Given the description of an element on the screen output the (x, y) to click on. 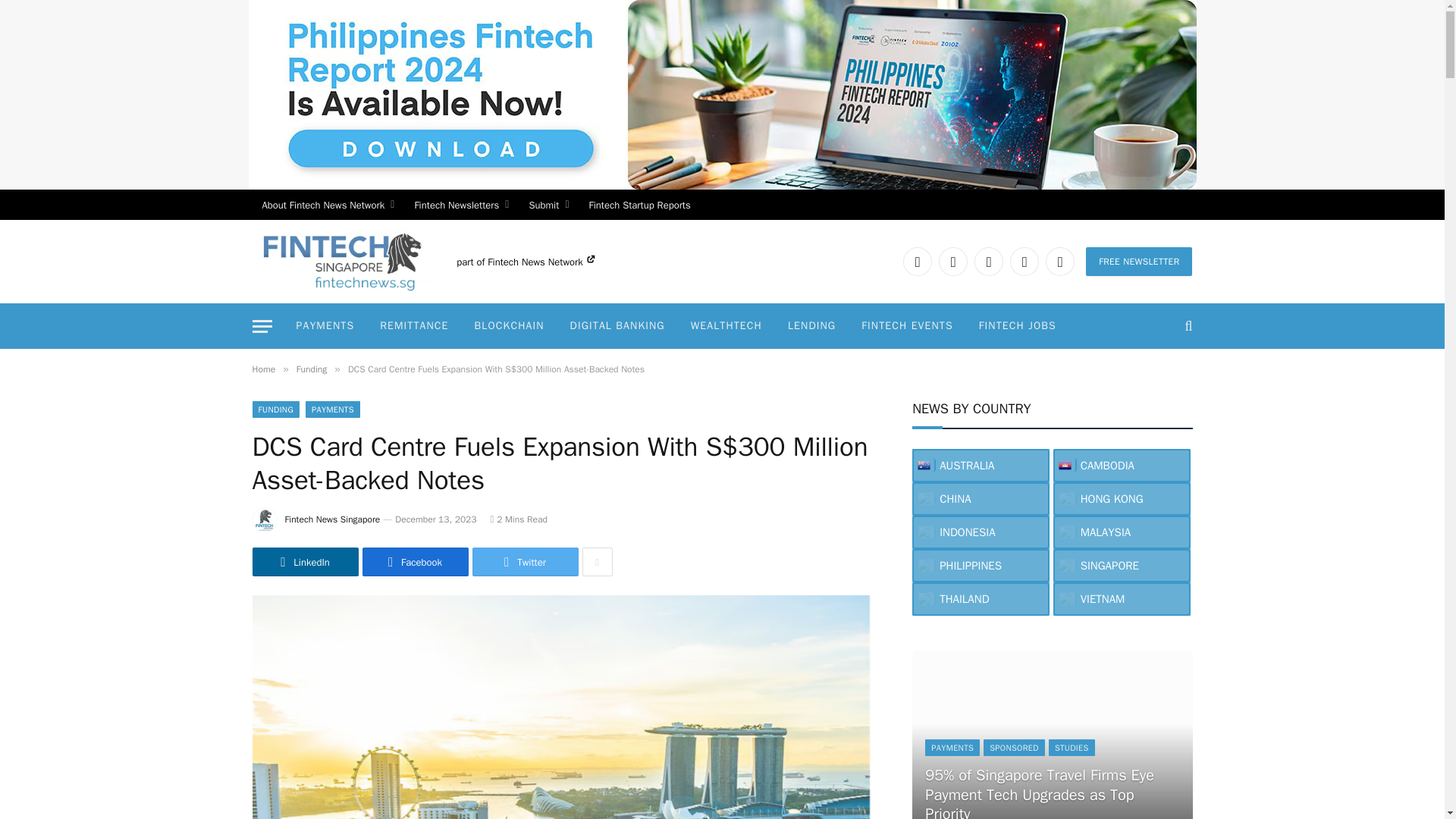
Share on Facebook (415, 561)
About Fintech News Network (327, 204)
Submit (548, 204)
Fintech Singapore (340, 261)
Fintech News Network (540, 261)
Posts by Fintech News Singapore (332, 519)
Fintech Startup Reports (639, 204)
Show More Social Sharing (597, 561)
Share on LinkedIn (304, 561)
Fintech Newsletters (461, 204)
